Given the description of an element on the screen output the (x, y) to click on. 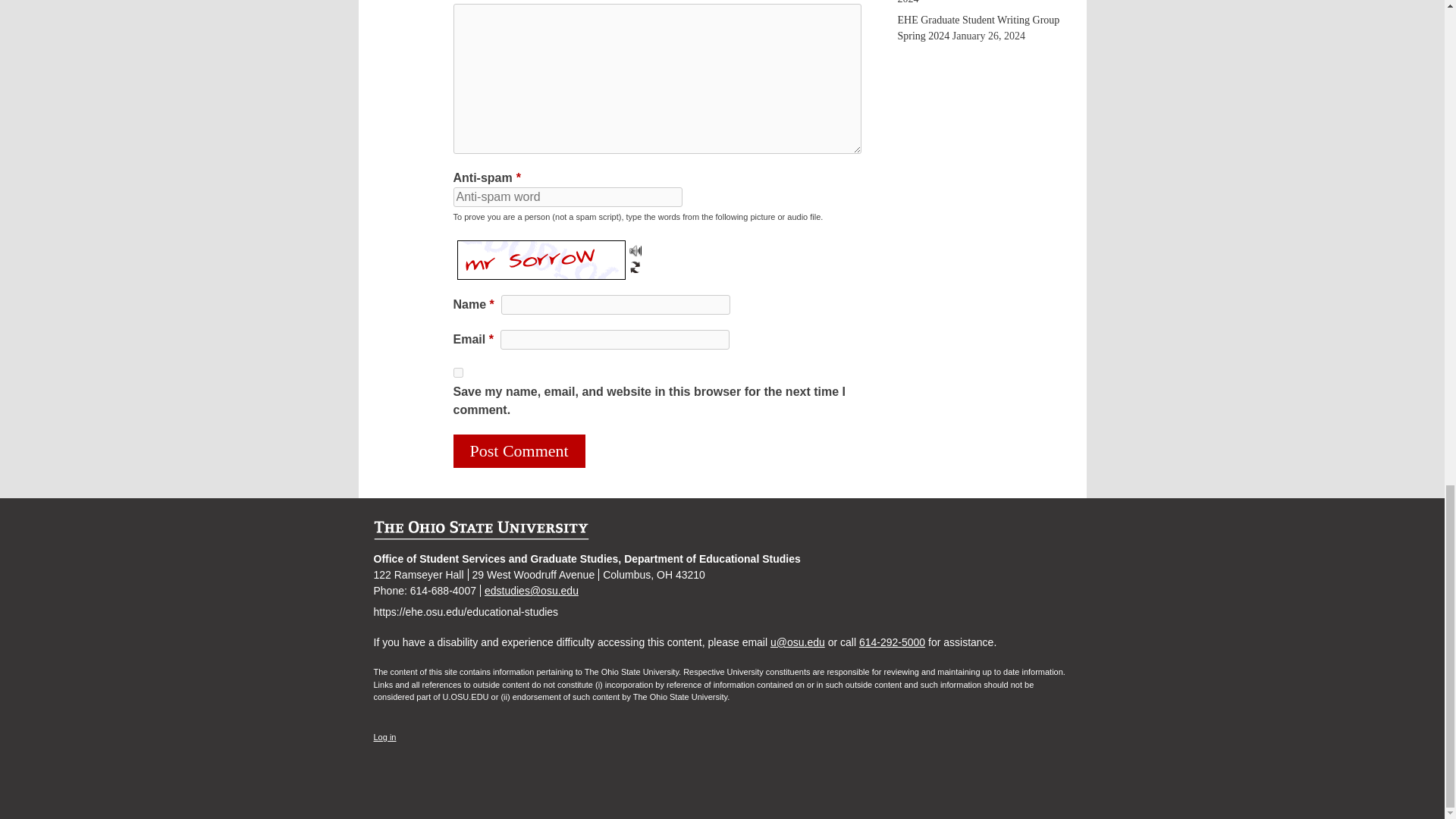
yes (457, 372)
Post Comment (518, 450)
